Given the description of an element on the screen output the (x, y) to click on. 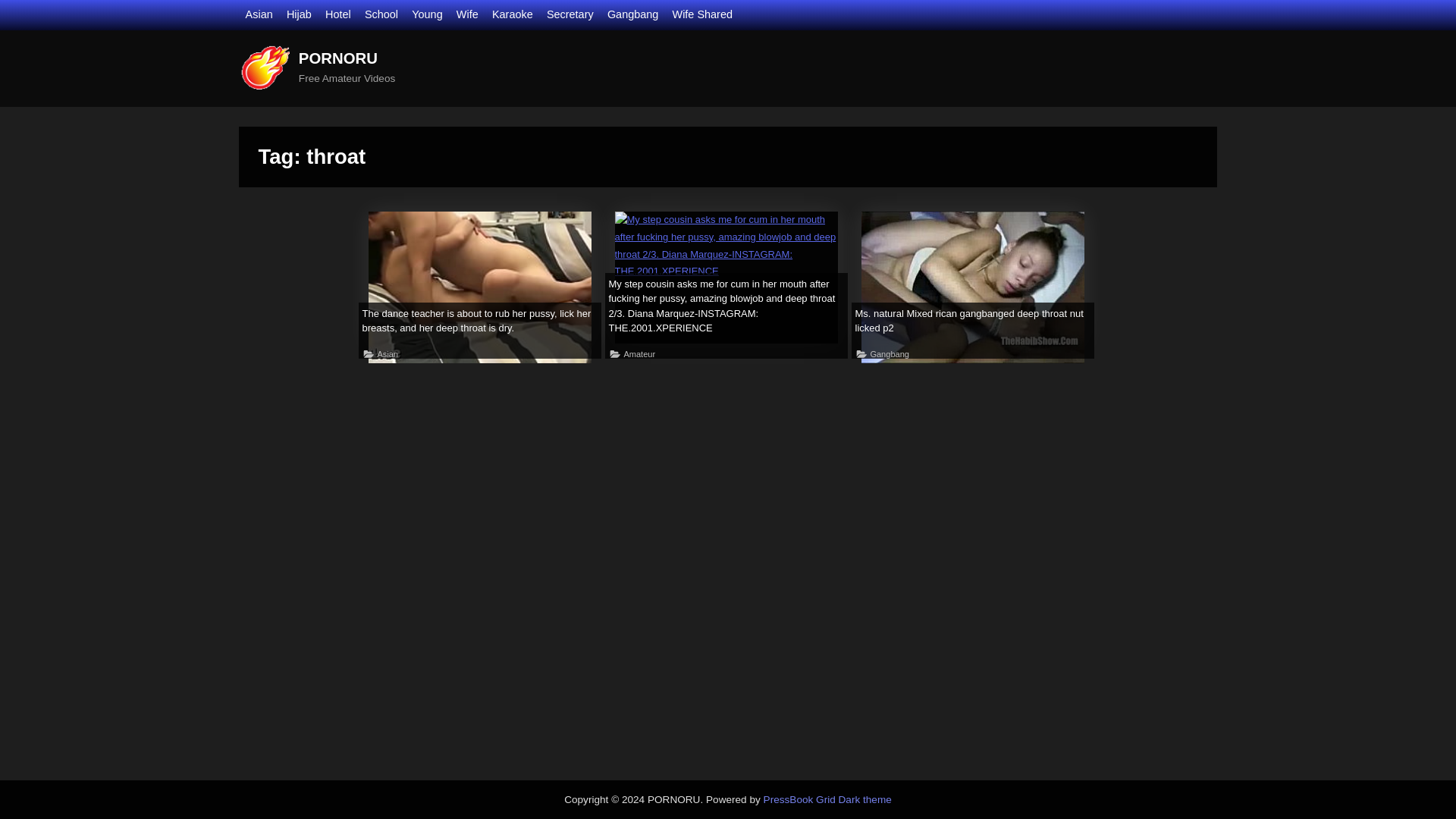
Secretary (570, 15)
Asian (259, 15)
Hijab (298, 15)
PressBook Grid Dark theme (826, 799)
Wife Shared (701, 15)
Gangbang (888, 354)
School (381, 15)
Hotel (337, 15)
Wife (468, 15)
Asian (387, 354)
Amateur (639, 354)
Gangbang (632, 15)
Karaoke (512, 15)
Young (427, 15)
